Given the description of an element on the screen output the (x, y) to click on. 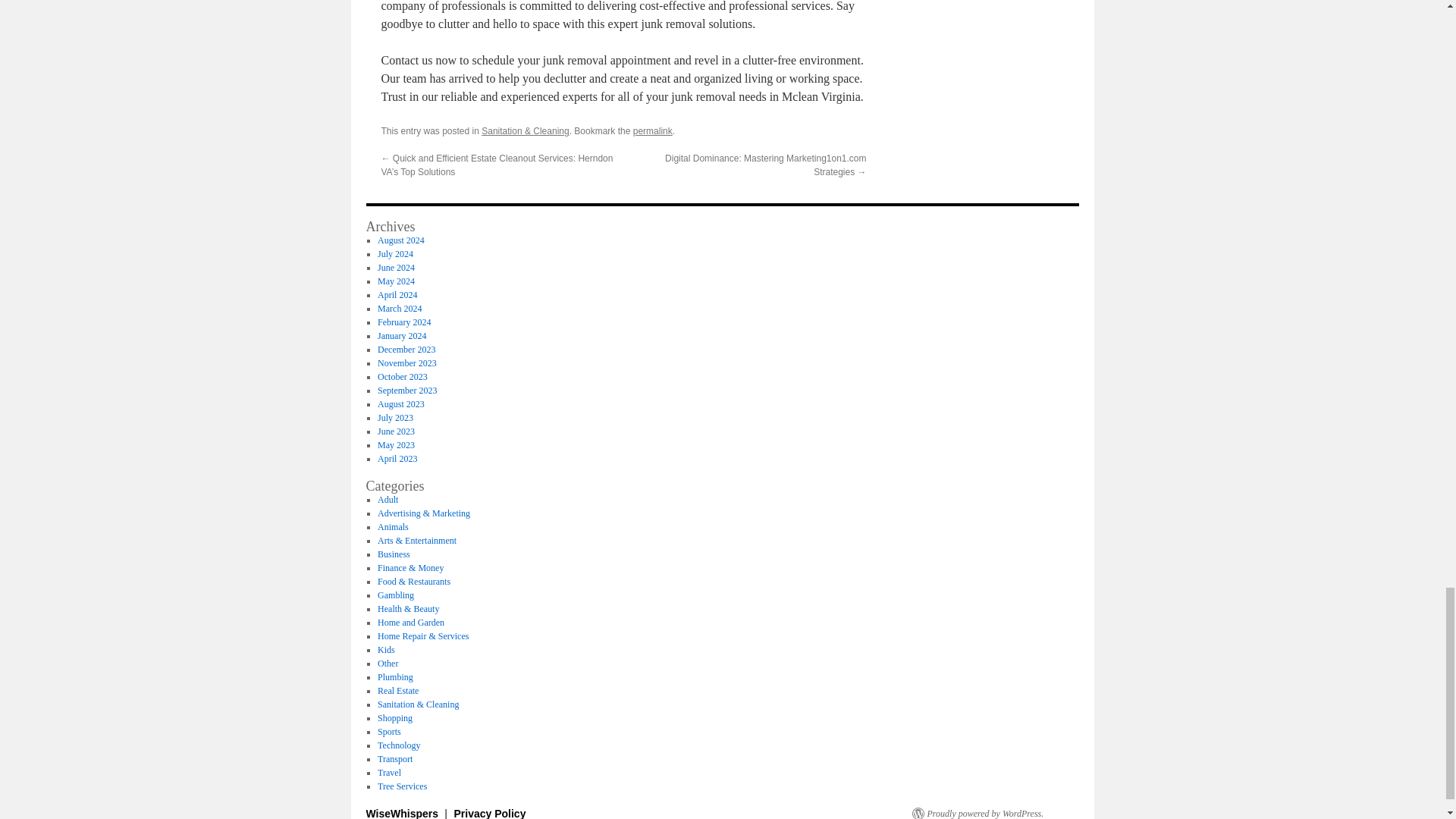
permalink (652, 131)
August 2024 (401, 240)
June 2024 (395, 267)
Adult (387, 499)
Permalink to The Ultimate Mclean VA Junk Disposal Guide (652, 131)
August 2023 (401, 403)
Animals (393, 526)
June 2023 (395, 430)
February 2024 (403, 321)
January 2024 (401, 335)
September 2023 (406, 389)
May 2023 (395, 444)
July 2023 (395, 417)
November 2023 (406, 362)
May 2024 (395, 281)
